Given the description of an element on the screen output the (x, y) to click on. 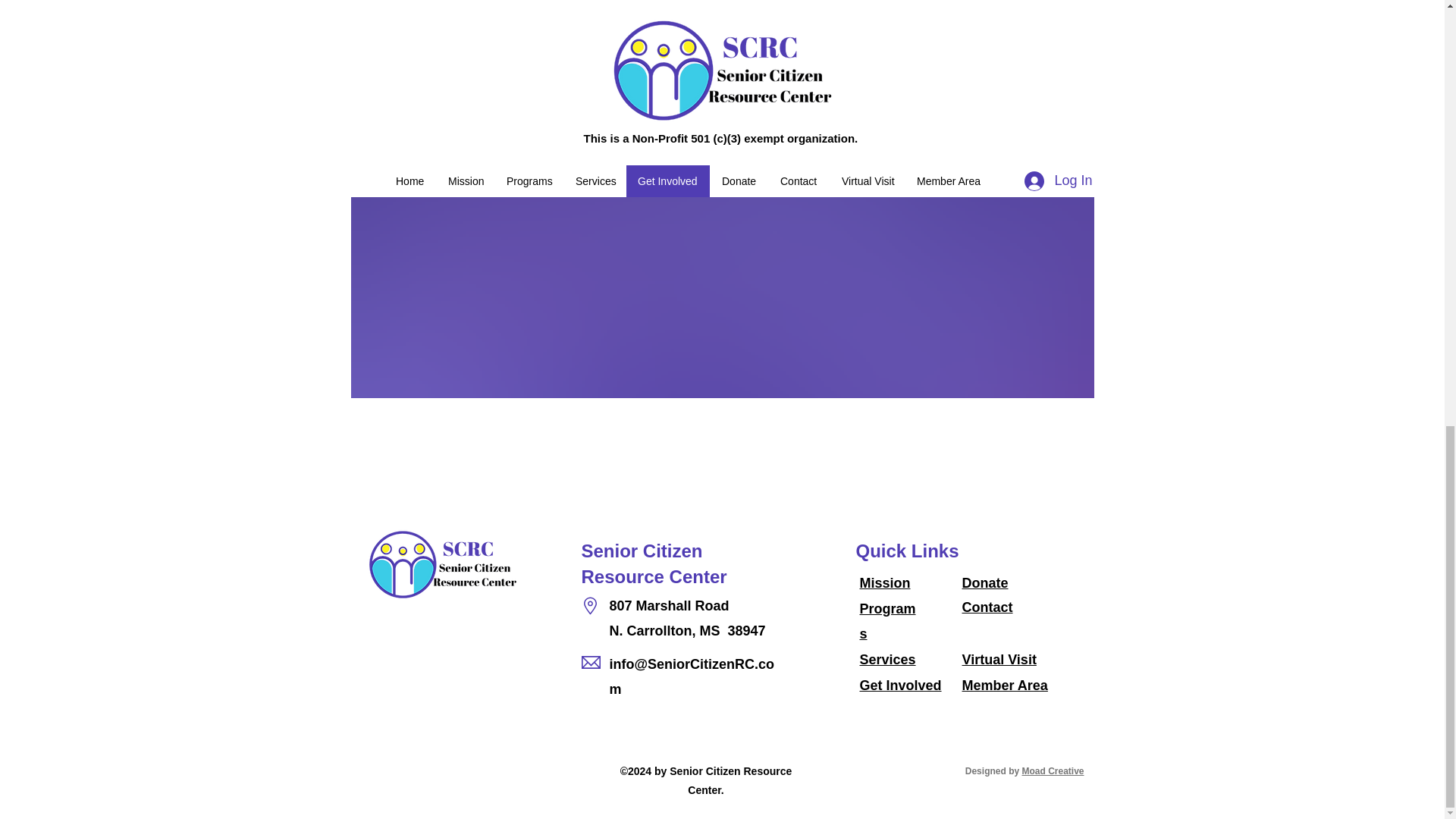
Programs (887, 621)
Services (887, 659)
Get Involved (901, 685)
Member Area (1003, 685)
Moad Creative (1052, 770)
Mission (885, 582)
